Given the description of an element on the screen output the (x, y) to click on. 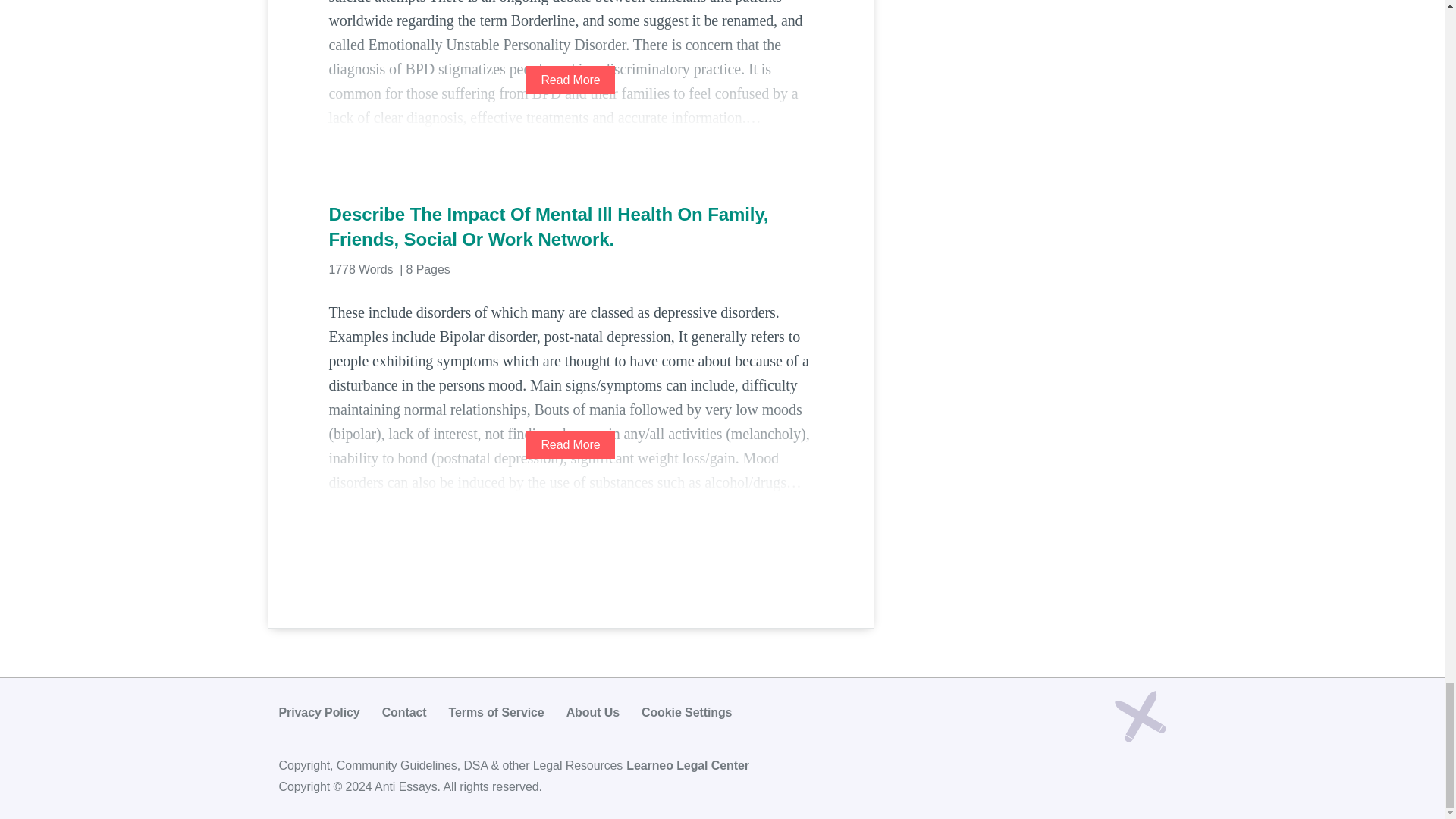
Read More (569, 444)
Contact (403, 712)
Terms of Service (495, 712)
Privacy Policy (319, 712)
Read More (569, 80)
